Given the description of an element on the screen output the (x, y) to click on. 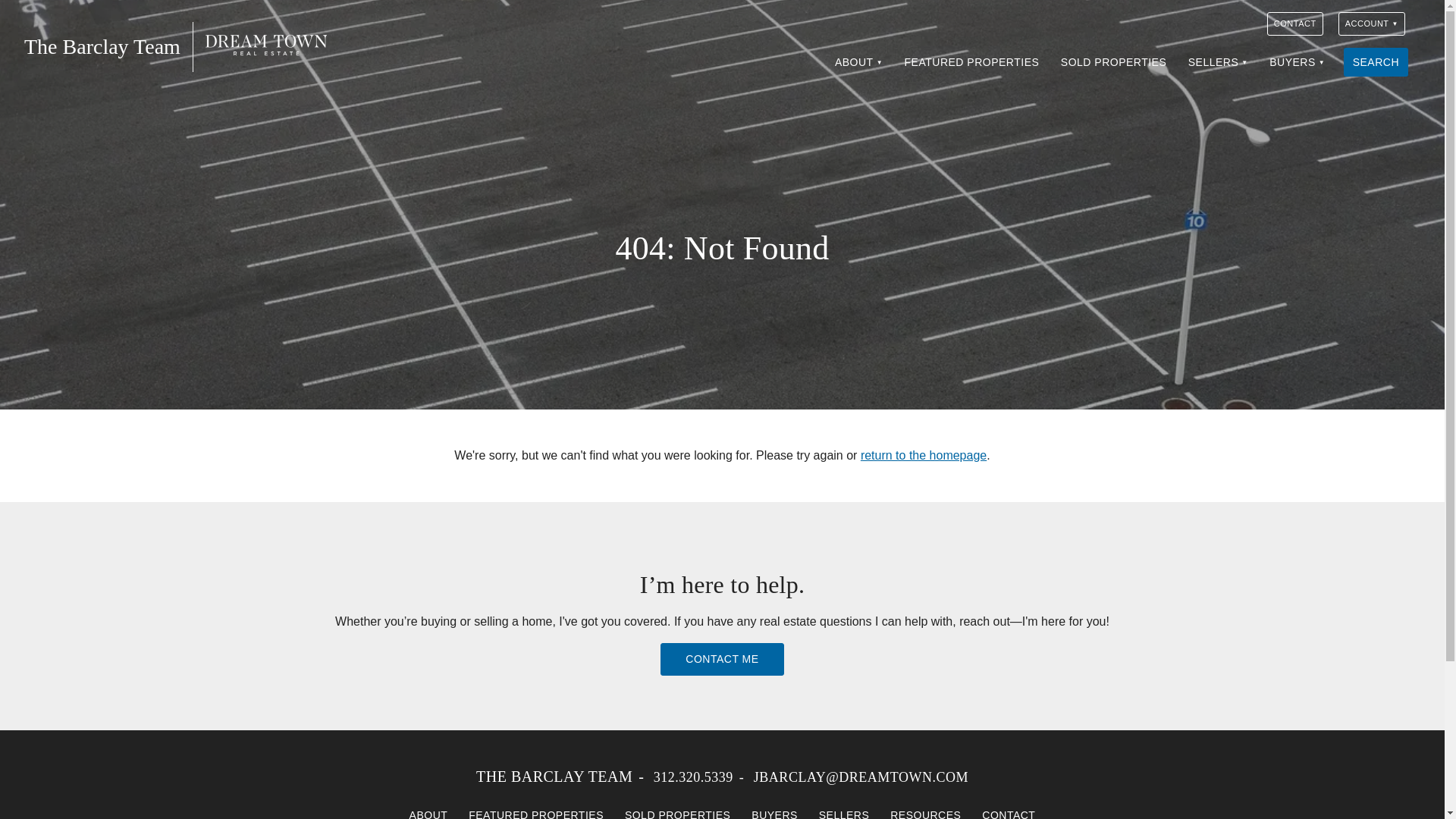
BUYERS (774, 809)
THE BARCLAY TEAM (553, 776)
ABOUT (858, 61)
FEATURED PROPERTIES (536, 809)
CONTACT (1294, 24)
ACCOUNT (1371, 24)
Dream Town Real Estate (265, 44)
SOLD PROPERTIES (1113, 61)
BUYERS (1296, 61)
RESOURCES (924, 809)
